Given the description of an element on the screen output the (x, y) to click on. 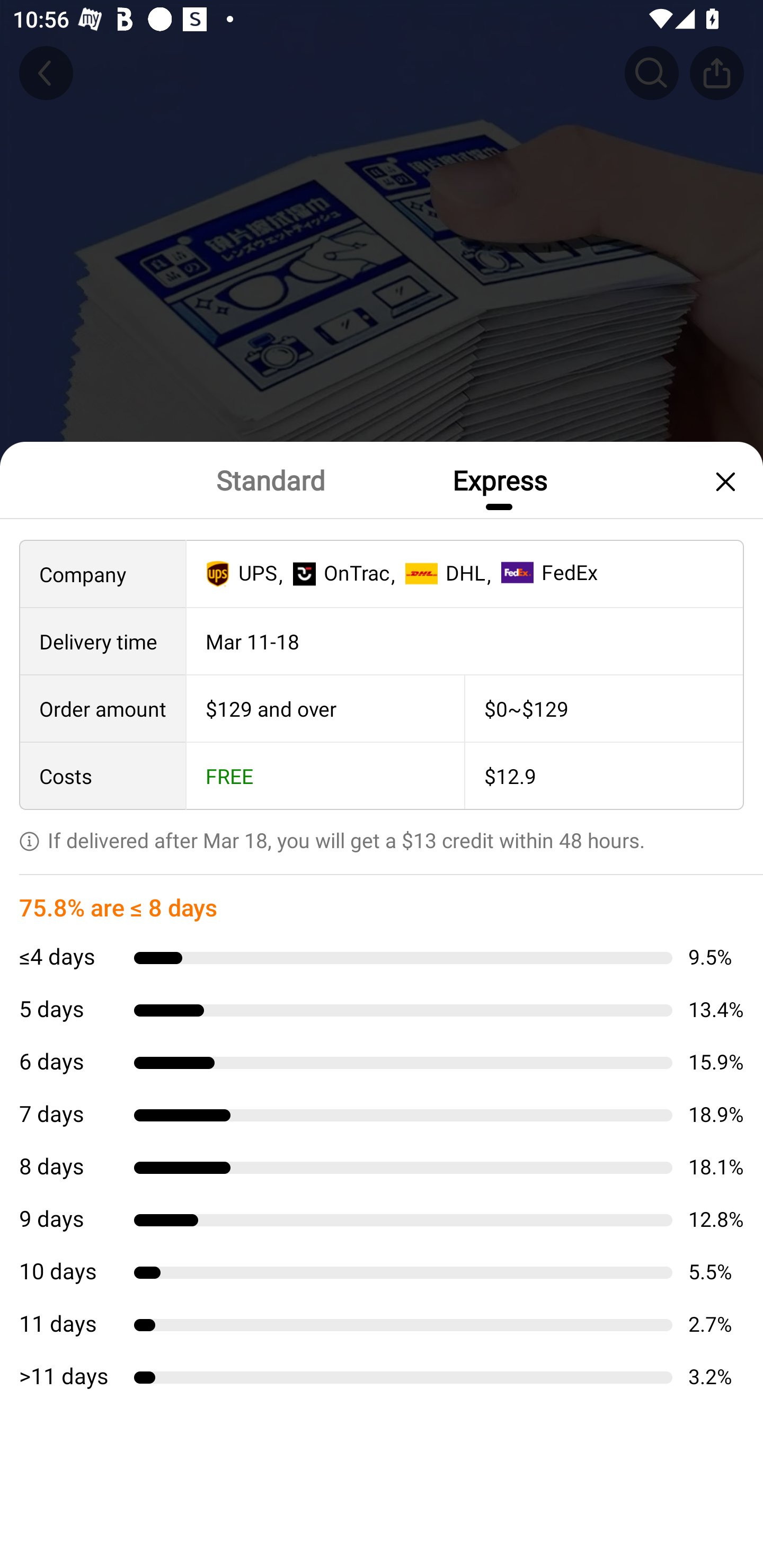
Standard (269, 479)
Express (499, 479)
close (723, 481)
Free shipping on all orders Exclusive offer (381, 836)
